Given the description of an element on the screen output the (x, y) to click on. 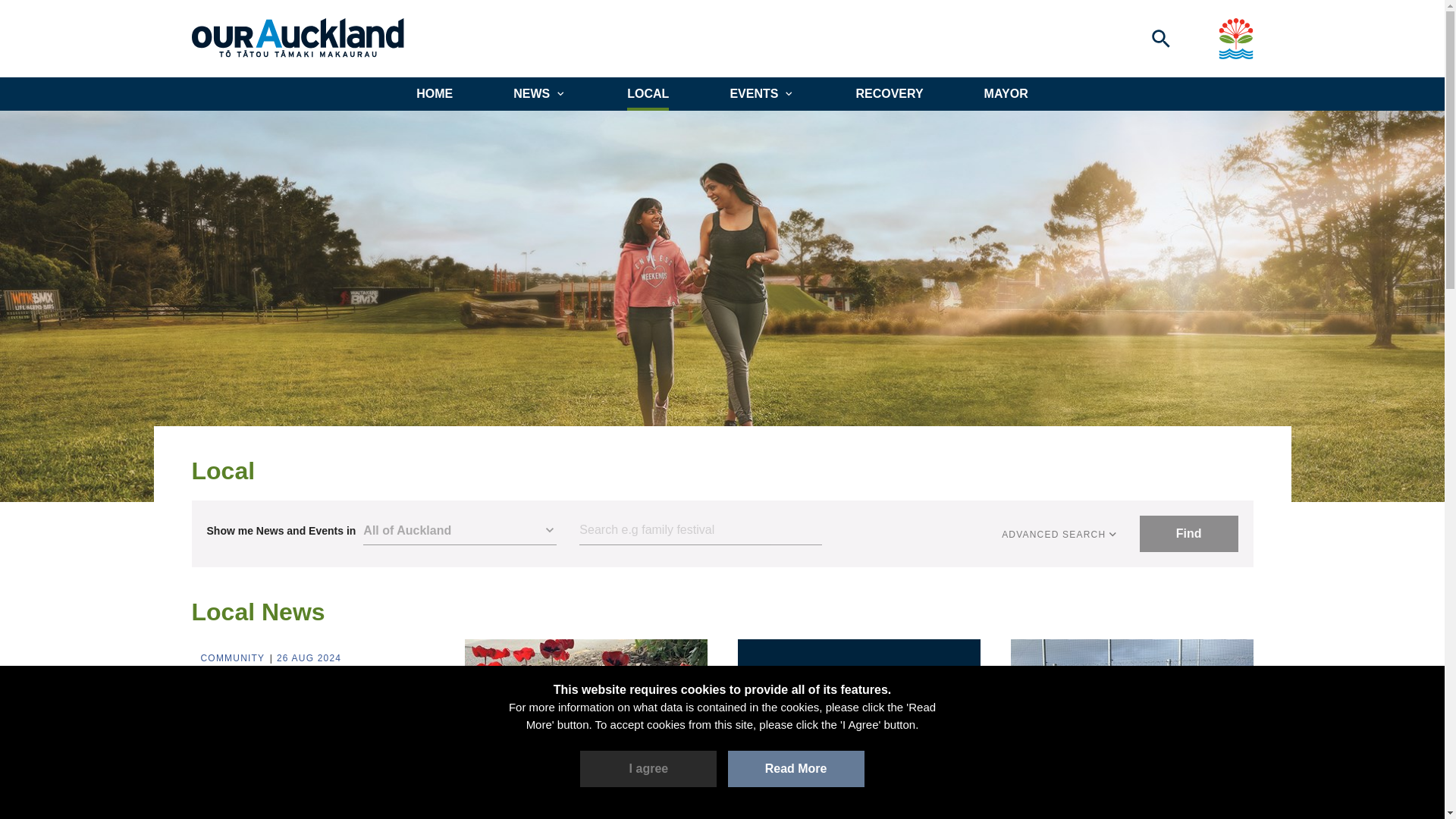
EVENTS (761, 93)
Find (1189, 533)
ADVANCED SEARCH (1060, 534)
RECOVERY (889, 93)
Search (700, 530)
NEWS (539, 93)
Toggle search (1160, 38)
MAYOR (1005, 93)
Taking care of our regional treasure (312, 690)
LOCAL (647, 93)
